Given the description of an element on the screen output the (x, y) to click on. 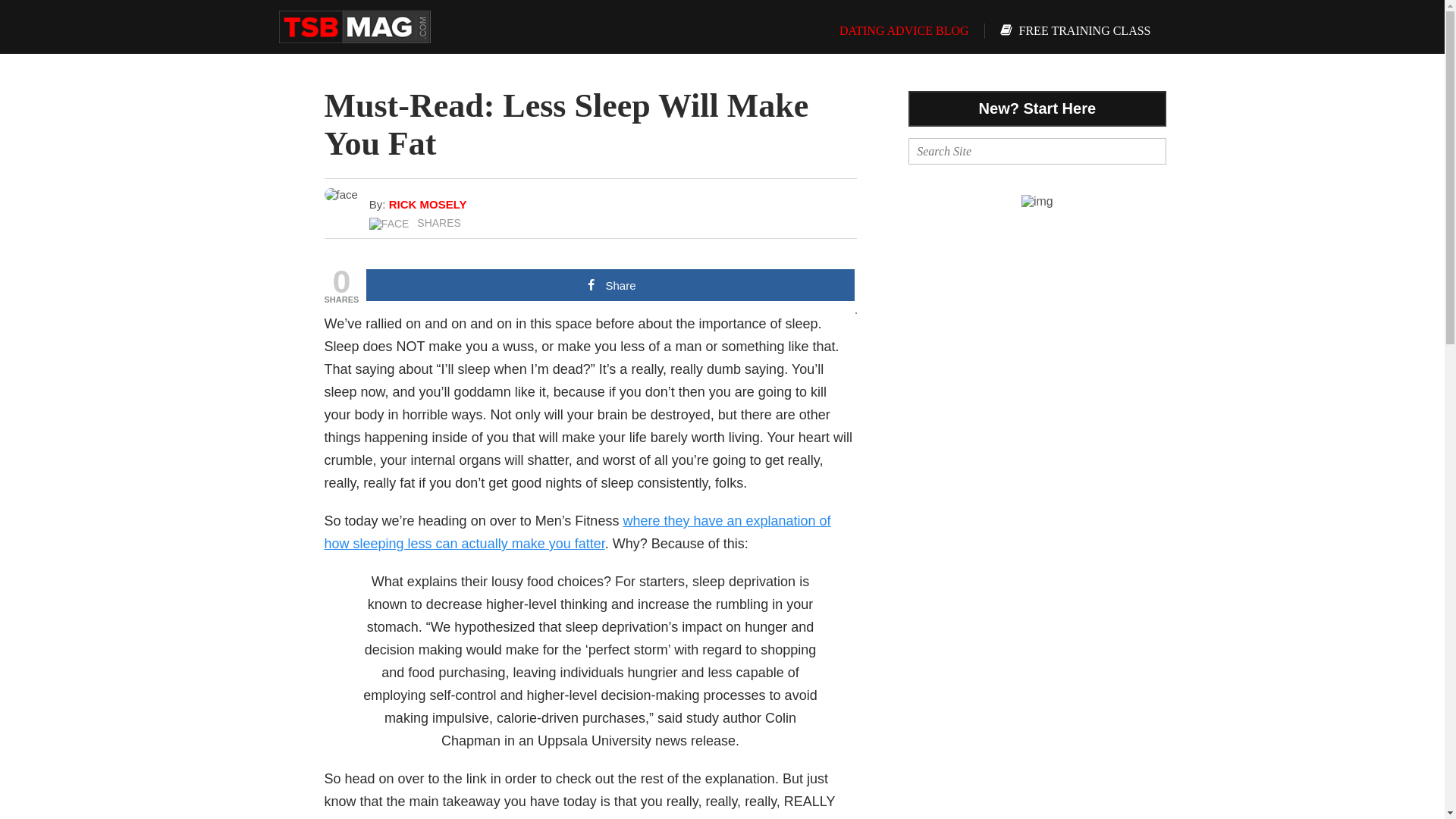
New? Start Here (1037, 108)
Share (609, 285)
RICK MOSELY (427, 204)
FREE TRAINING CLASS (1075, 30)
DATING ADVICE BLOG (895, 30)
